Given the description of an element on the screen output the (x, y) to click on. 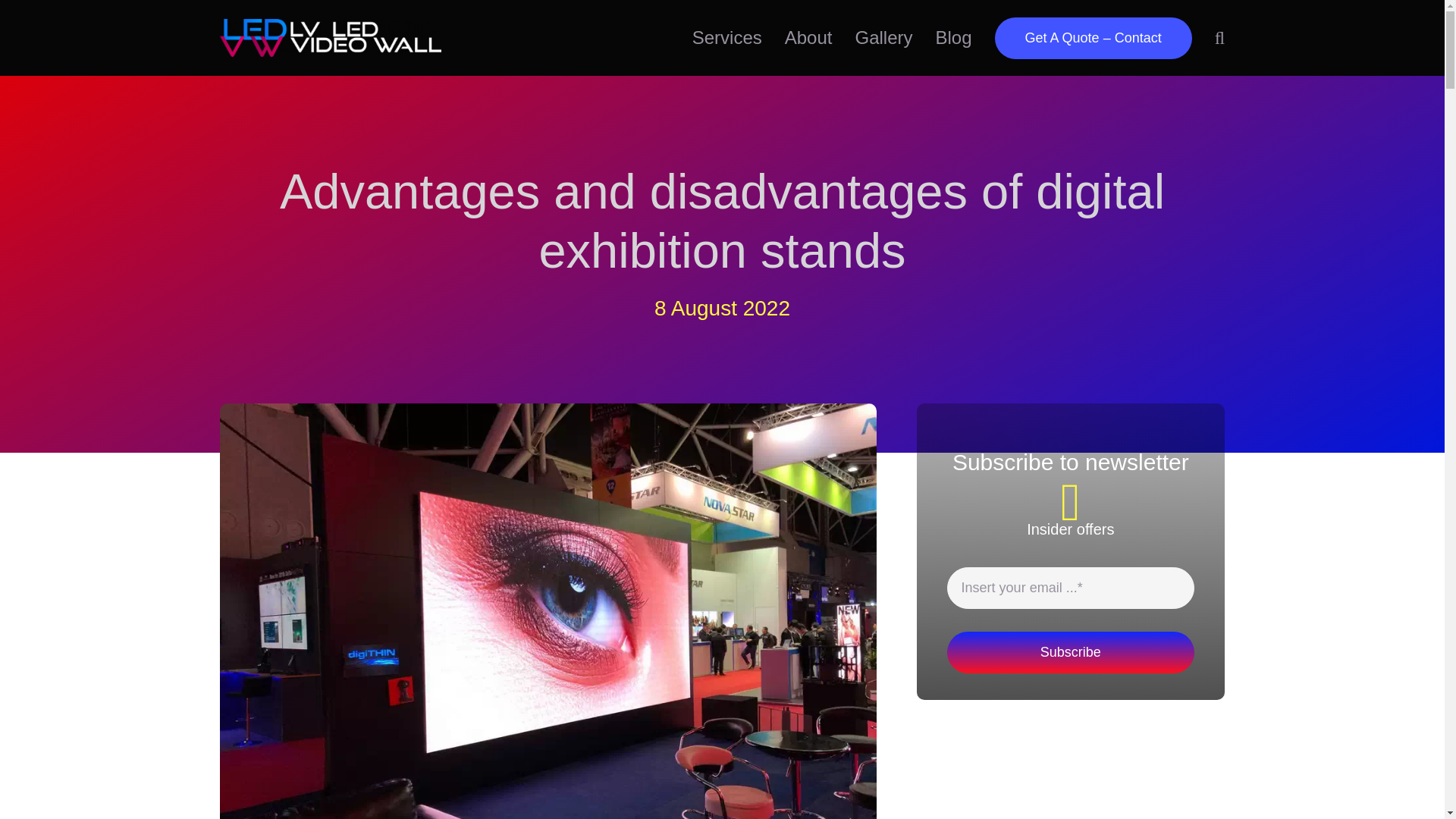
Subscribe (1070, 652)
Advantages and disadvantages of digital exhibition stands 1 (330, 37)
Services (727, 38)
Subscribe (1070, 620)
